Given the description of an element on the screen output the (x, y) to click on. 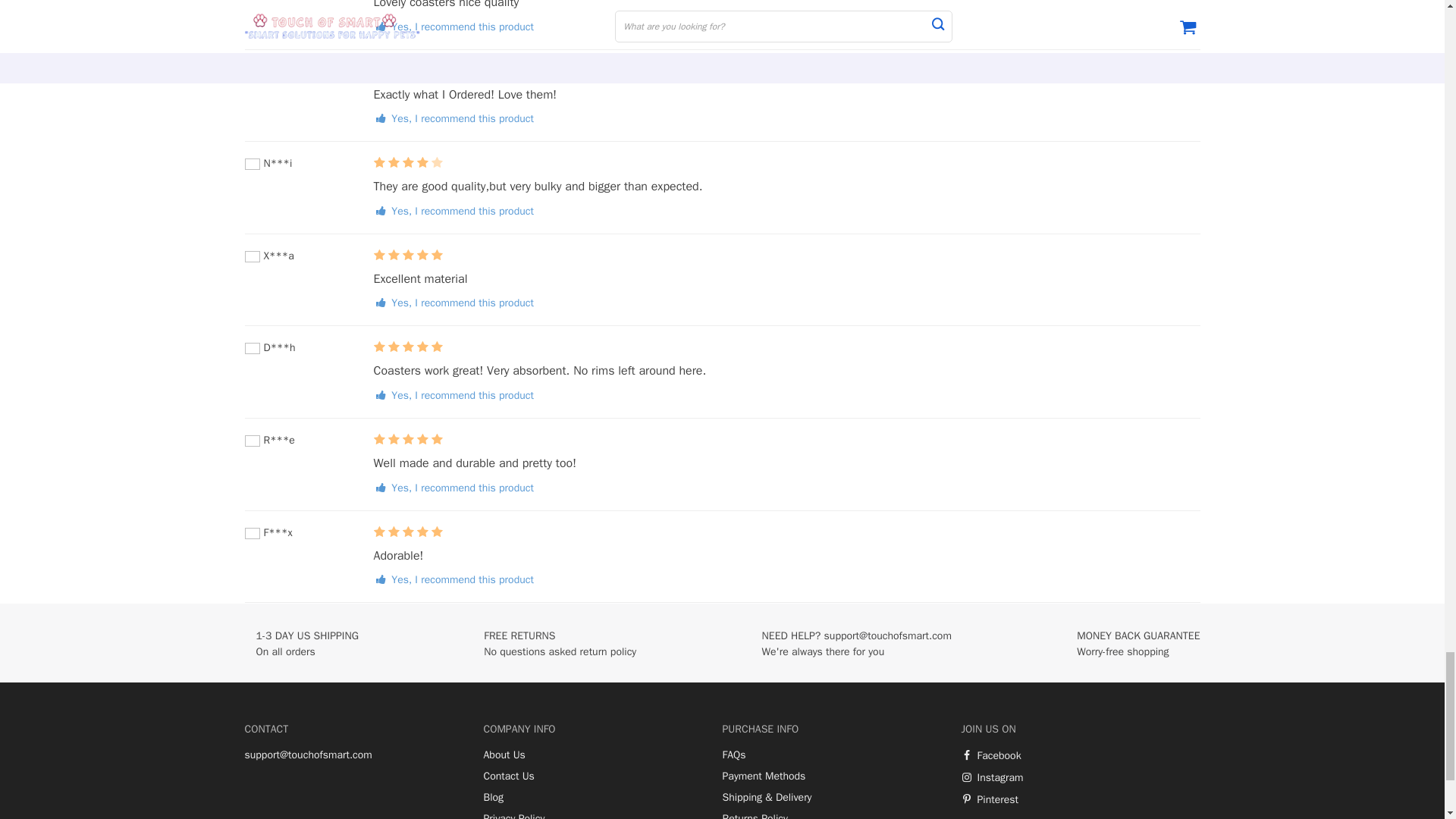
Privacy Policy (513, 815)
Contact Us (508, 775)
About Us (504, 755)
Blog (493, 797)
